Given the description of an element on the screen output the (x, y) to click on. 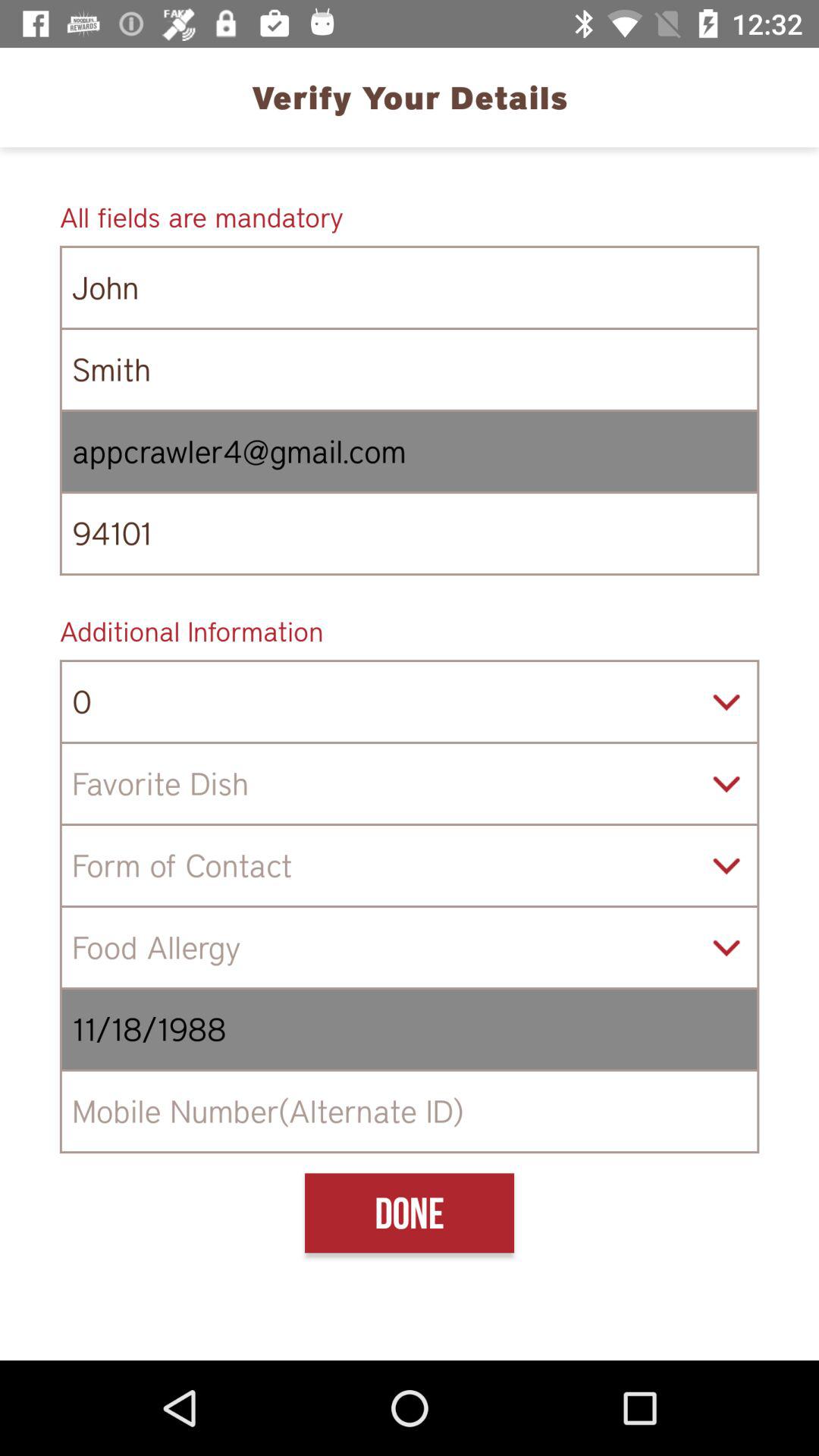
jump to 0 icon (409, 701)
